Given the description of an element on the screen output the (x, y) to click on. 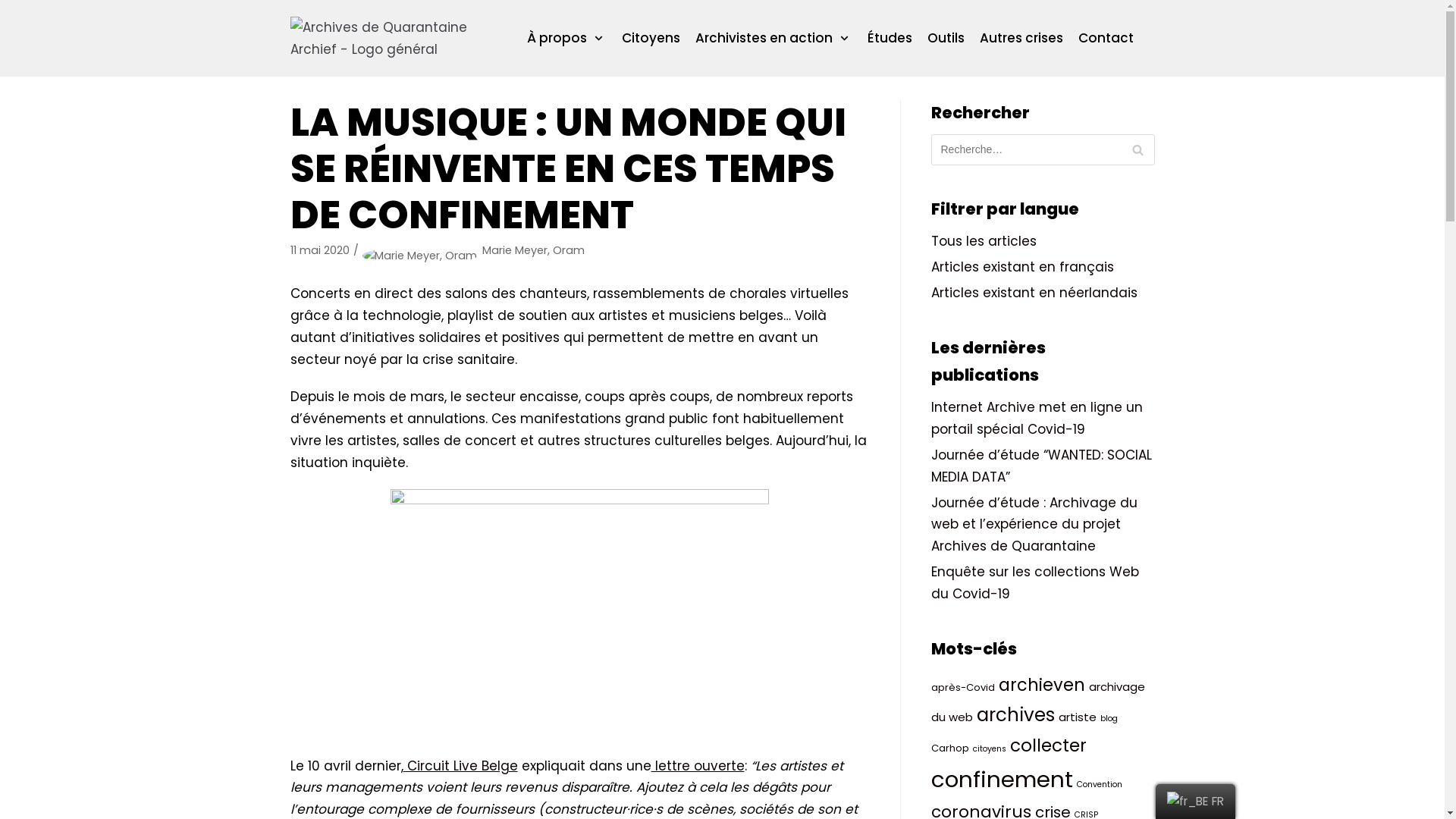
Contact Element type: text (1105, 37)
Aller au contenu Element type: text (15, 7)
artiste Element type: text (1077, 716)
lettre ouverte Element type: text (696, 765)
archivage du web Element type: text (1038, 701)
Archivistes en action Element type: text (773, 37)
ArchivesQuarantaineArchief Element type: hover (386, 38)
Citoyens Element type: text (650, 37)
Marie Meyer, Oram Element type: text (533, 249)
Circuit Live Belge Element type: text (460, 765)
Tous les articles Element type: text (983, 241)
archives Element type: text (1015, 714)
confinement Element type: text (1002, 778)
Carhop Element type: text (950, 747)
Convention Element type: text (1099, 784)
Autres crises Element type: text (1021, 37)
Rechercher Element type: text (1137, 149)
Outils Element type: text (945, 37)
collecter Element type: text (1048, 745)
archieven Element type: text (1040, 684)
citoyens Element type: text (988, 748)
blog Element type: text (1108, 718)
